Given the description of an element on the screen output the (x, y) to click on. 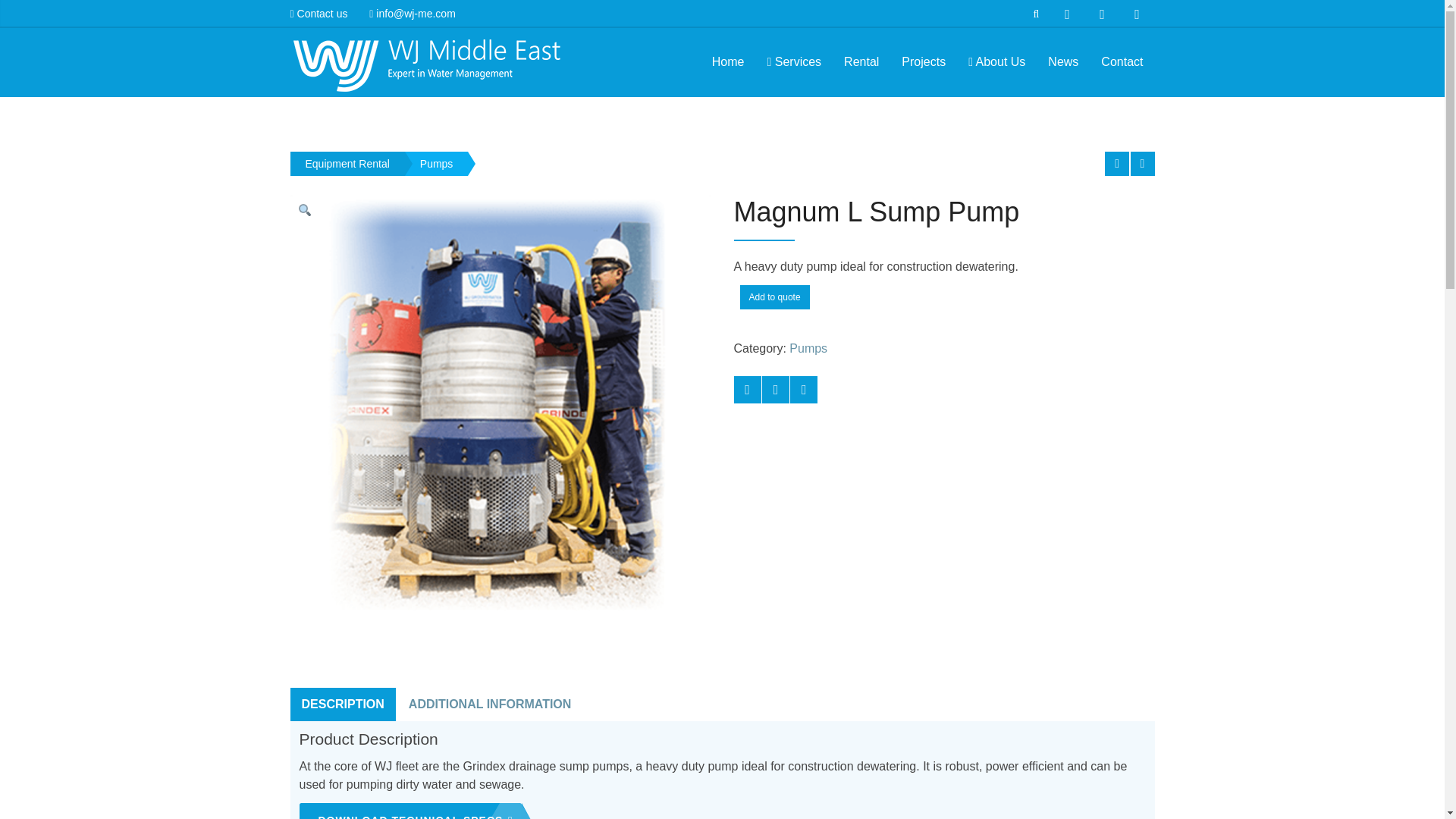
Projects (922, 61)
Equipment Rental (346, 163)
 About Us (996, 61)
Home (727, 61)
News (1062, 61)
Contact us (323, 13)
Contact (1121, 61)
 Services (793, 61)
Pumps (436, 163)
Rental (860, 61)
